Given the description of an element on the screen output the (x, y) to click on. 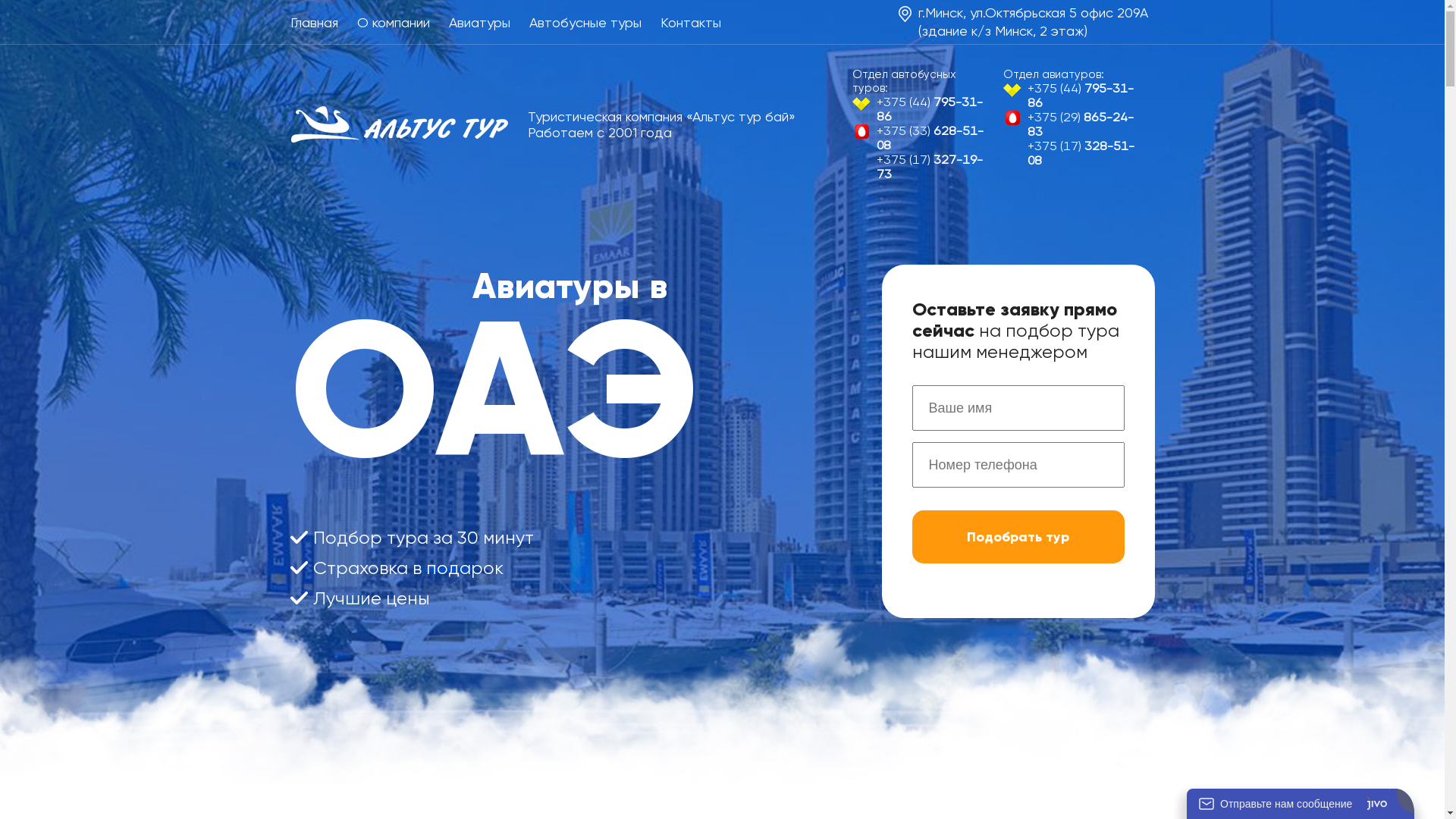
+375 (44) 795-31-86 Element type: text (1073, 95)
+375 (17) 327-19-73 Element type: text (922, 166)
+375 (29) 865-24-83 Element type: text (1073, 123)
+375 (44) 795-31-86 Element type: text (922, 108)
+375 (17) 328-51-08 Element type: text (1073, 152)
+375 (33) 628-51-08 Element type: text (922, 137)
